Given the description of an element on the screen output the (x, y) to click on. 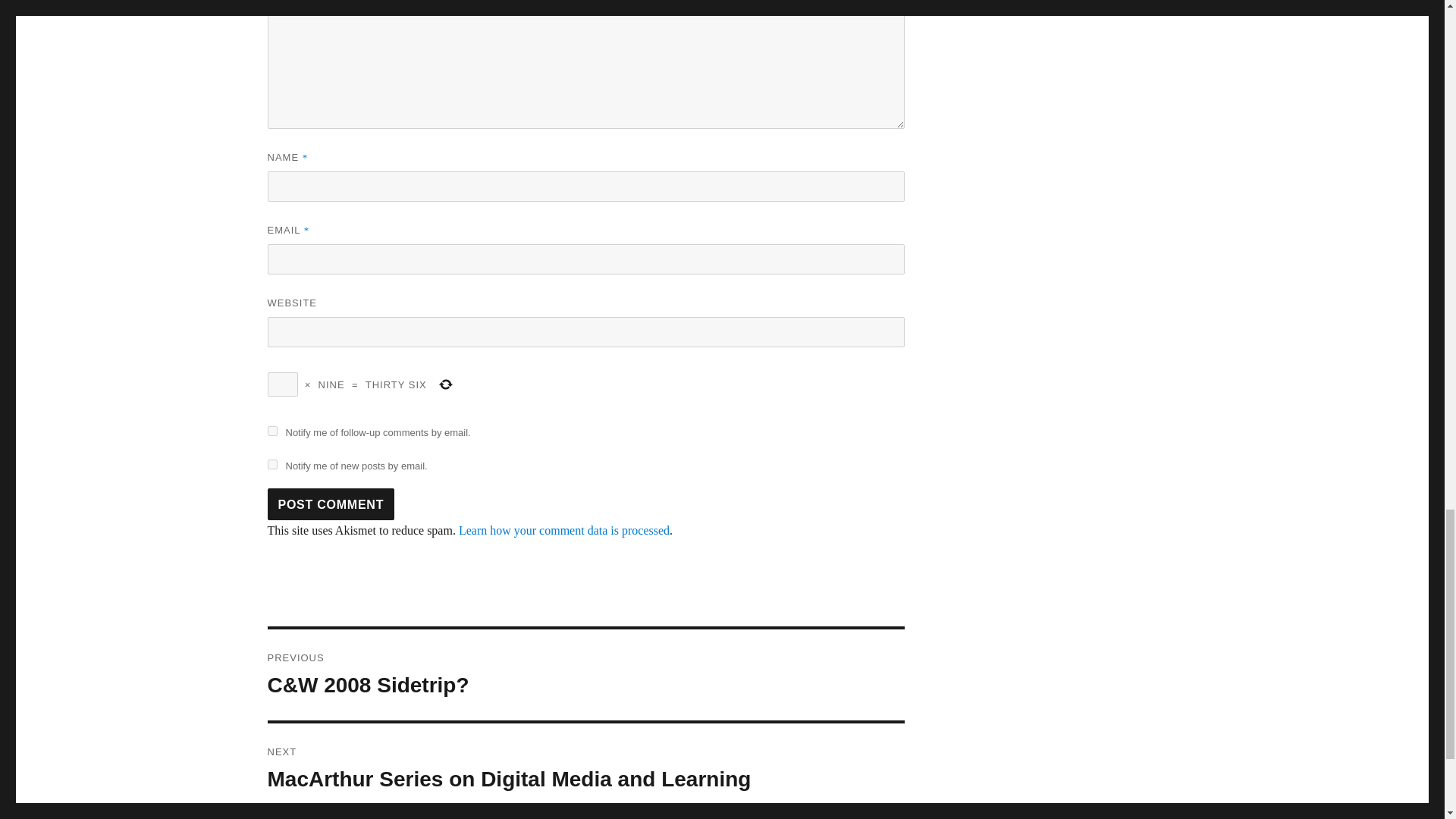
subscribe (271, 430)
Learn how your comment data is processed (563, 530)
subscribe (271, 464)
Post Comment (330, 504)
Post Comment (330, 504)
